Given the description of an element on the screen output the (x, y) to click on. 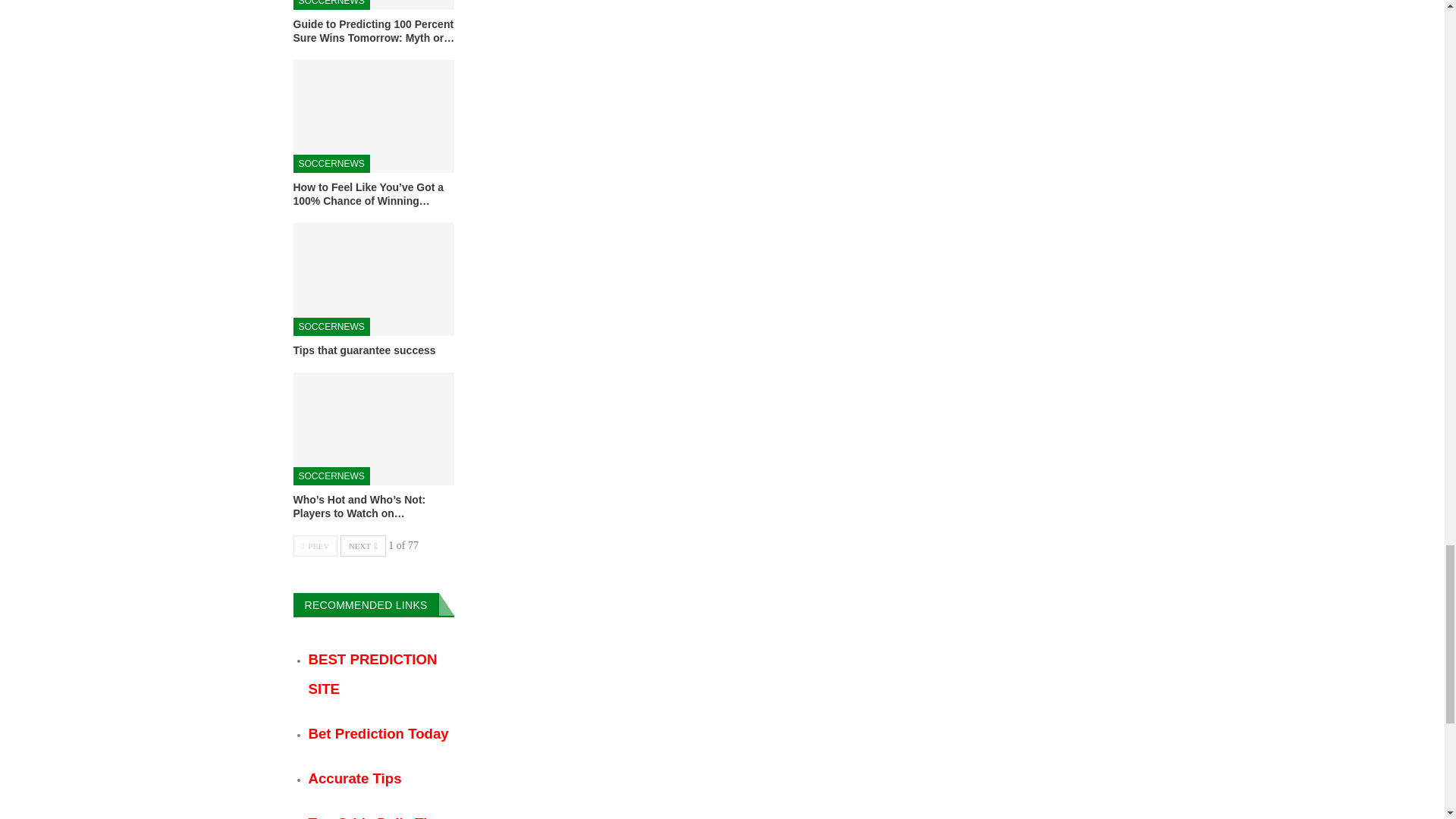
Tips that guarantee success (363, 349)
Previous (314, 545)
Tips that guarantee success (373, 278)
Next (362, 545)
SOCCERNEWS (330, 163)
SOCCERNEWS (330, 4)
